Given the description of an element on the screen output the (x, y) to click on. 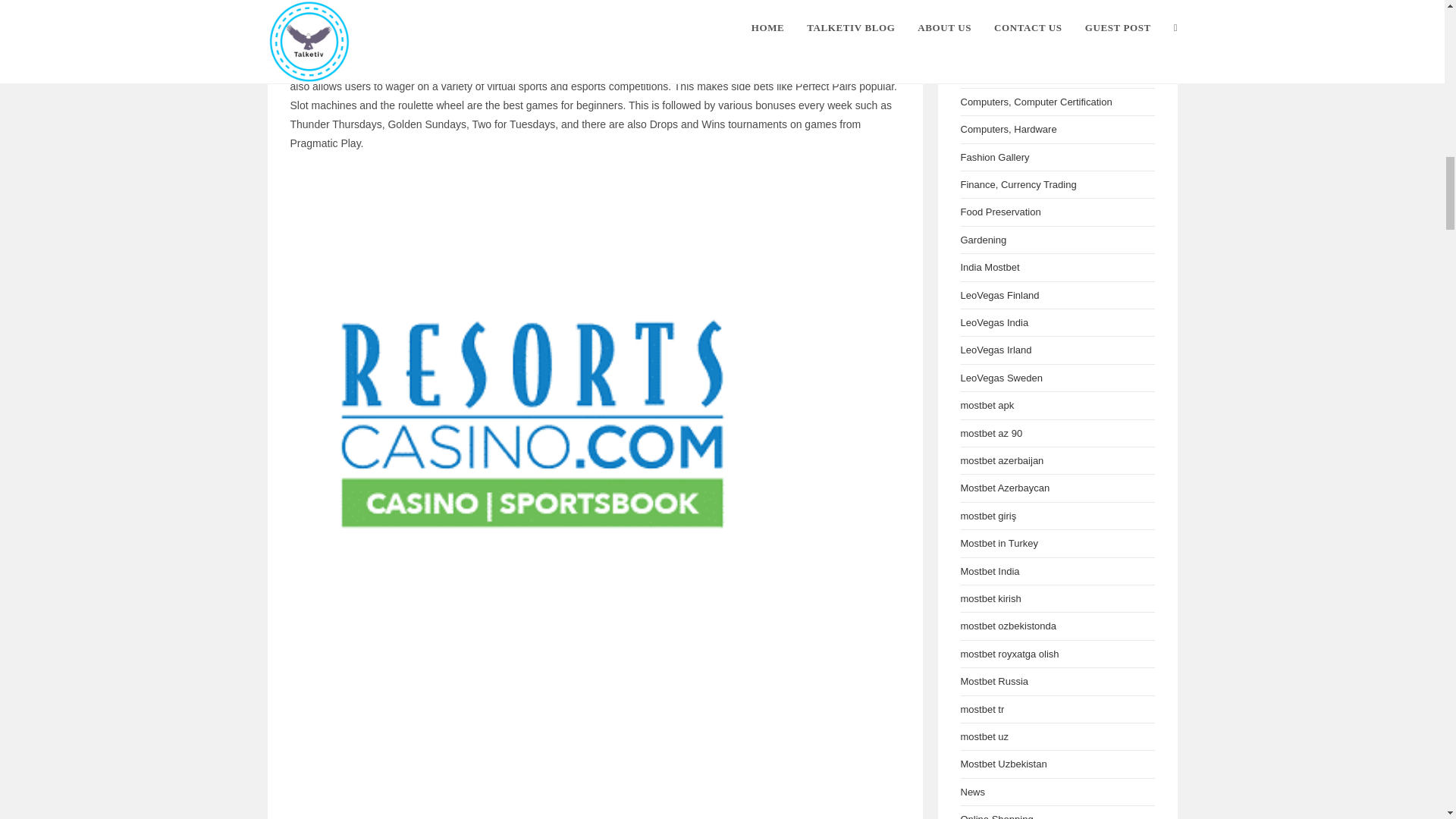
3 Easy Ways To Make casino Faster (594, 735)
